Given the description of an element on the screen output the (x, y) to click on. 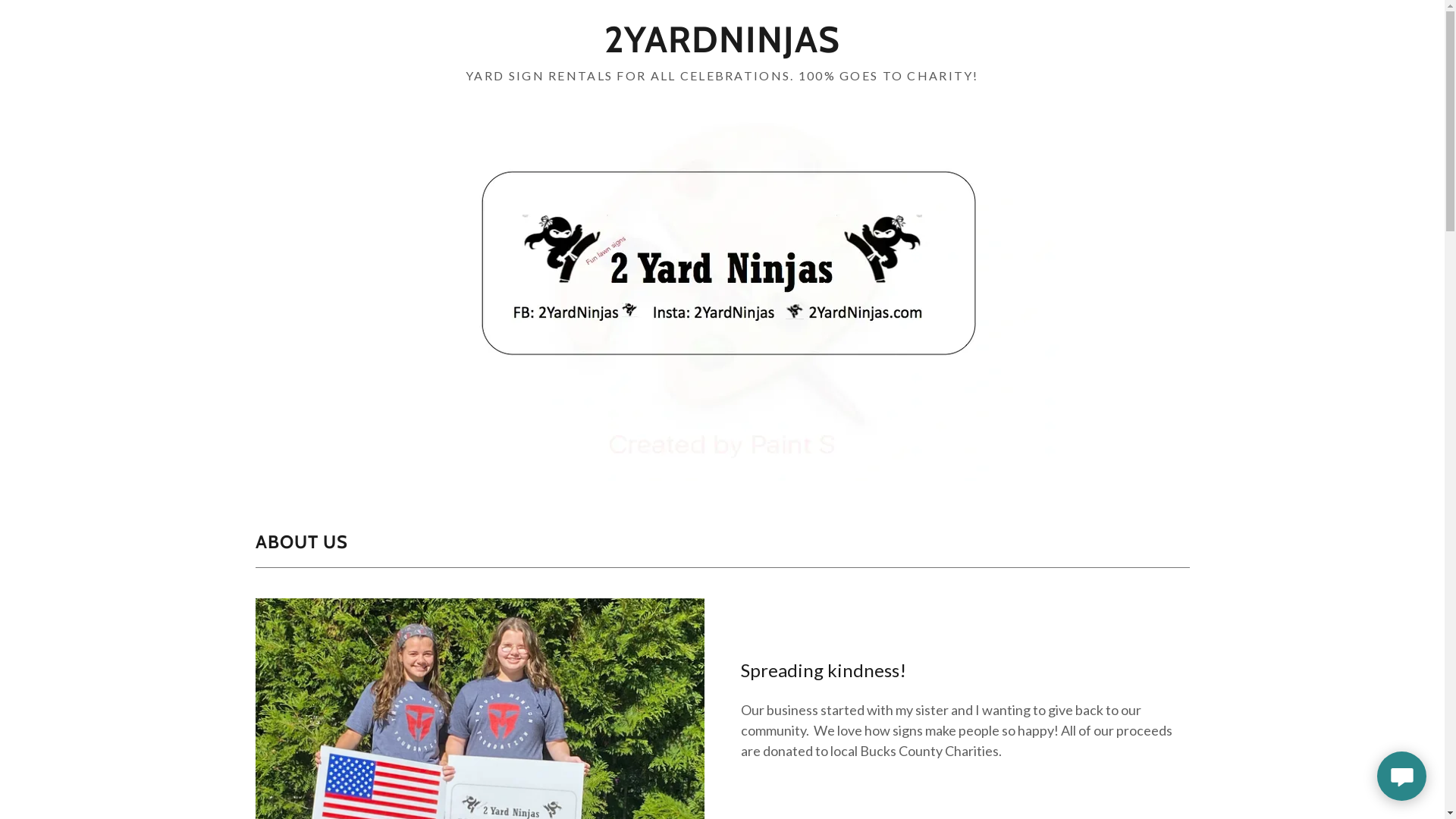
2YARDNINJAS Element type: text (722, 46)
